Given the description of an element on the screen output the (x, y) to click on. 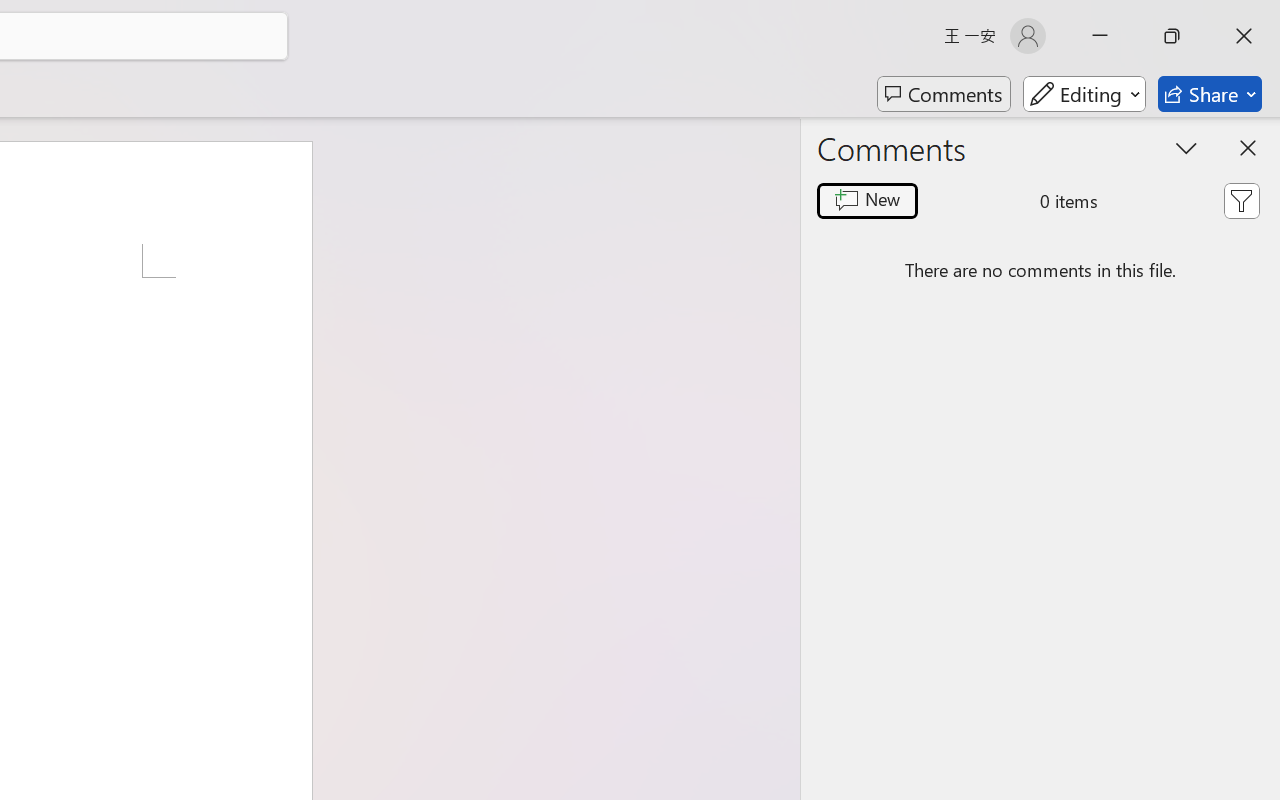
Filter (1241, 201)
New comment (866, 201)
